Given the description of an element on the screen output the (x, y) to click on. 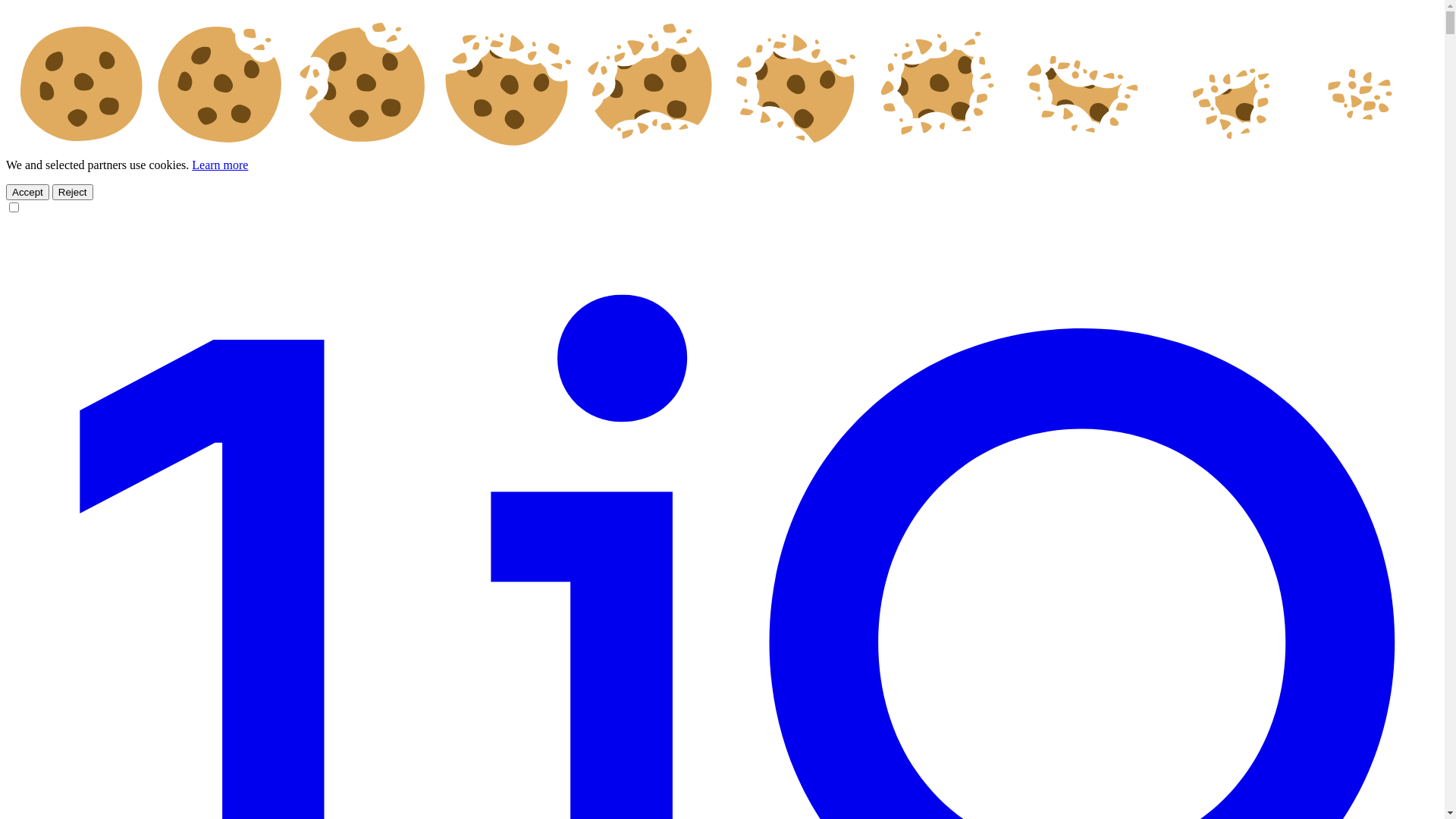
Accept Element type: text (27, 192)
Learn more Element type: text (219, 164)
Reject Element type: text (72, 192)
